Given the description of an element on the screen output the (x, y) to click on. 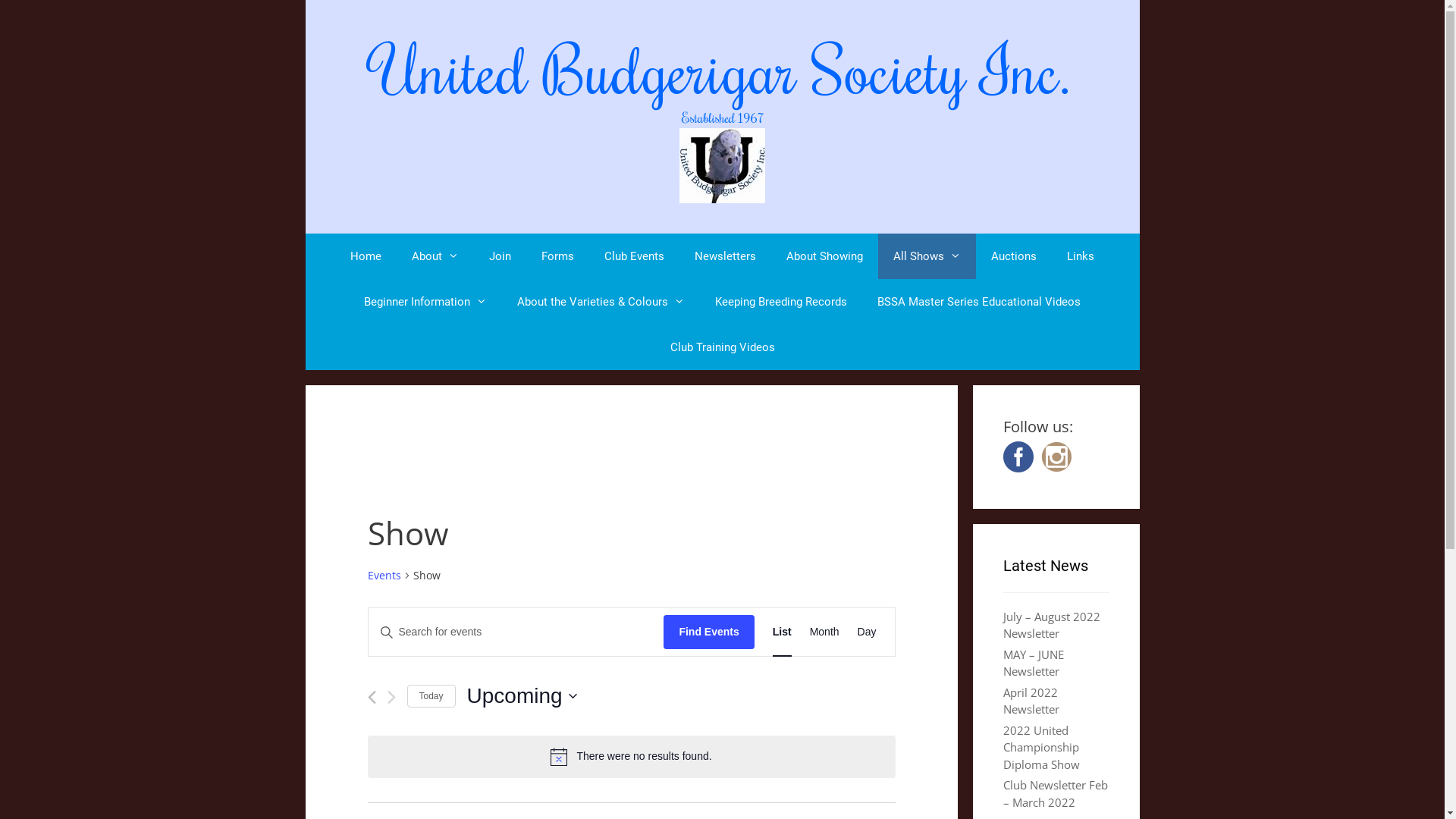
Month Element type: text (824, 631)
Club Training Videos Element type: text (722, 347)
United Budgerigar Society Inc. Element type: hover (722, 164)
Find Events Element type: text (708, 632)
BSSA Master Series Educational Videos Element type: text (978, 301)
Events Element type: text (383, 575)
April 2022 Newsletter Element type: text (1030, 700)
United Budgerigar Society Inc. Element type: hover (722, 165)
Join Element type: text (499, 256)
Beginner Information Element type: text (425, 301)
Links Element type: text (1080, 256)
List Element type: text (781, 631)
Auctions Element type: text (1013, 256)
Club Events Element type: text (634, 256)
About Element type: text (434, 256)
All Shows Element type: text (926, 256)
Forms Element type: text (557, 256)
Day Element type: text (866, 631)
Keeping Breeding Records Element type: text (780, 301)
United Budgerigar Society Inc. Element type: text (722, 68)
About Showing Element type: text (824, 256)
2022 United Championship Diploma Show Element type: text (1040, 746)
Newsletters Element type: text (725, 256)
About the Varieties & Colours Element type: text (600, 301)
Previous Events Element type: hover (371, 697)
Upcoming Element type: text (522, 695)
Today Element type: text (430, 696)
Next Events Element type: hover (390, 697)
Home Element type: text (365, 256)
